Given the description of an element on the screen output the (x, y) to click on. 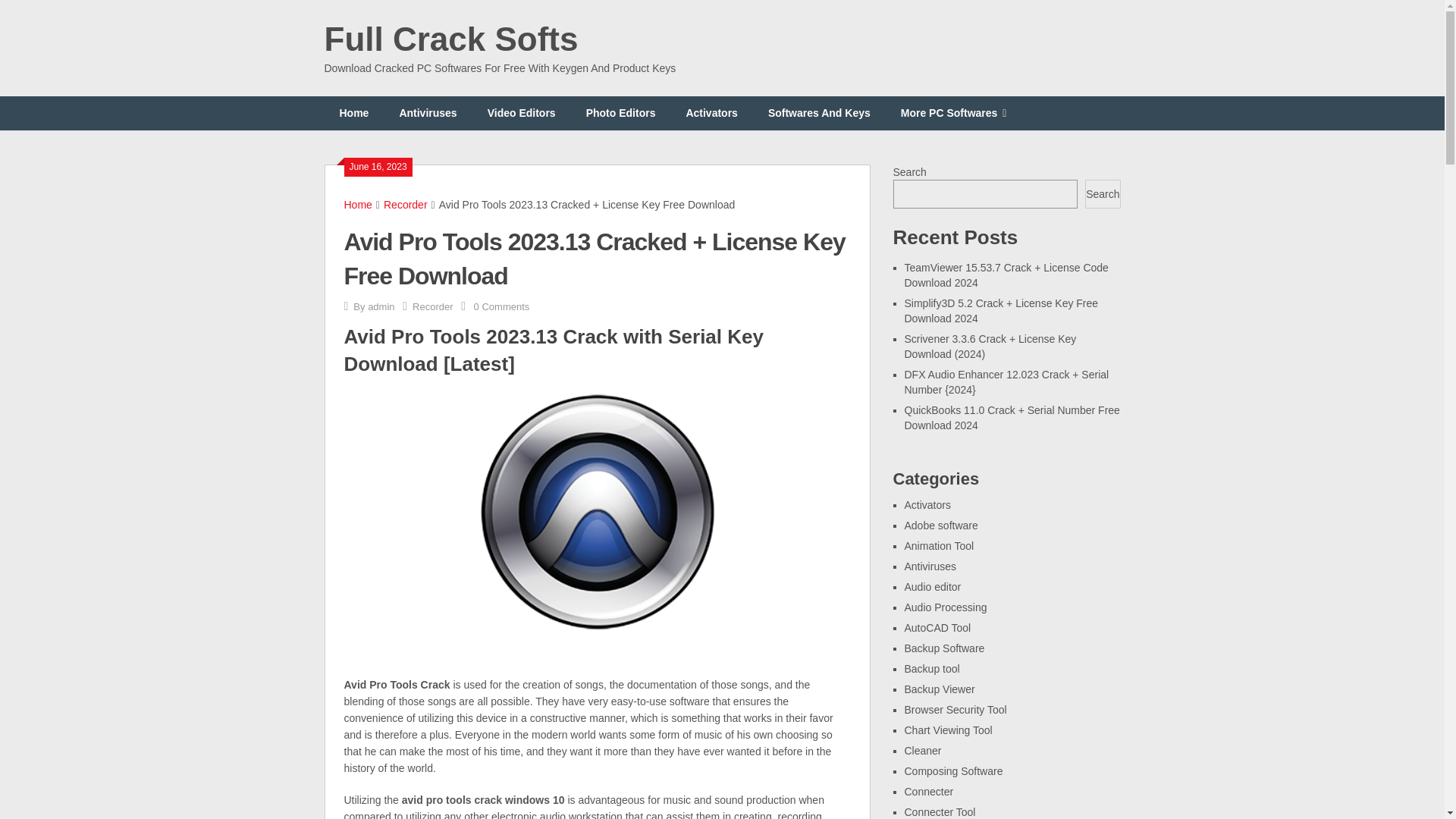
Antiviruses (929, 566)
Activators (710, 113)
Recorder (432, 306)
Video Editors (520, 113)
More PC Softwares (953, 113)
admin (381, 306)
Softwares And Keys (818, 113)
Adobe software (940, 525)
Home (354, 113)
Search (1101, 193)
Antiviruses (427, 113)
0 Comments (501, 306)
Full Crack Softs (451, 38)
Recorder (406, 204)
Posts by admin (381, 306)
